Given the description of an element on the screen output the (x, y) to click on. 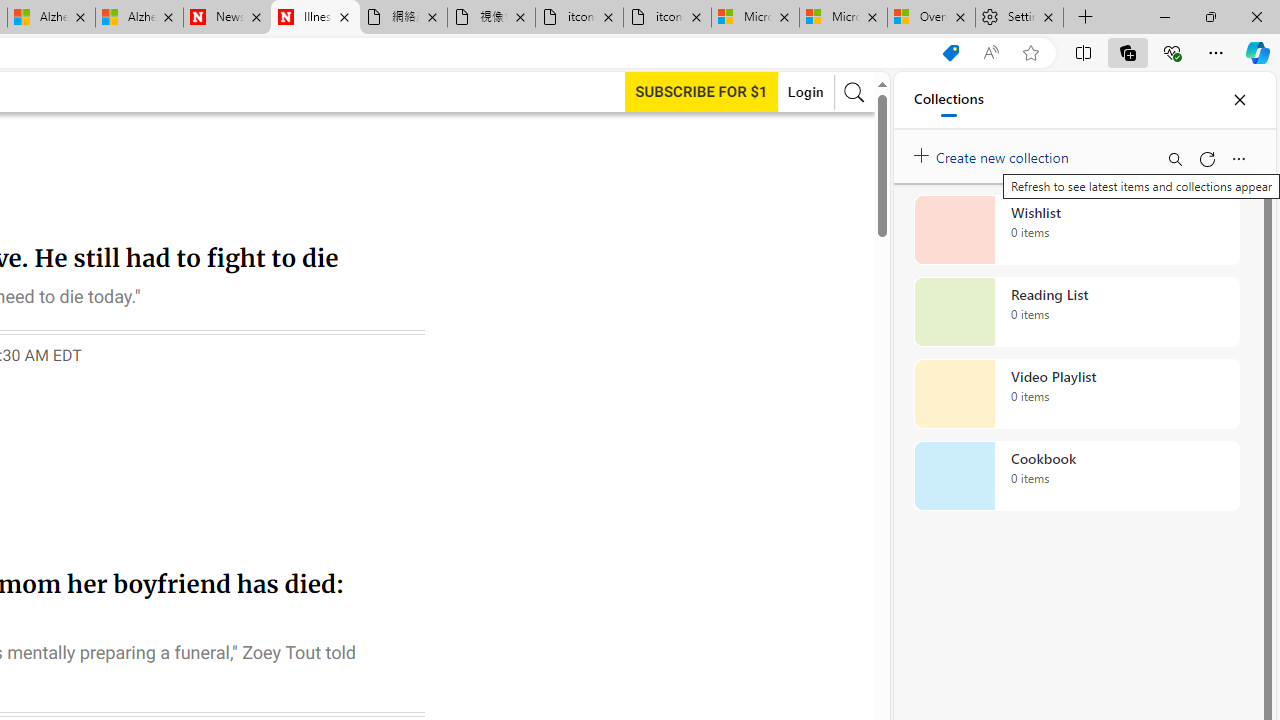
More options menu (1238, 158)
Create new collection (994, 153)
Reading List collection, 0 items (1076, 312)
Illness news & latest pictures from Newsweek.com (315, 17)
Newsweek - News, Analysis, Politics, Business, Technology (227, 17)
Microsoft account | Privacy (843, 17)
